Given the description of an element on the screen output the (x, y) to click on. 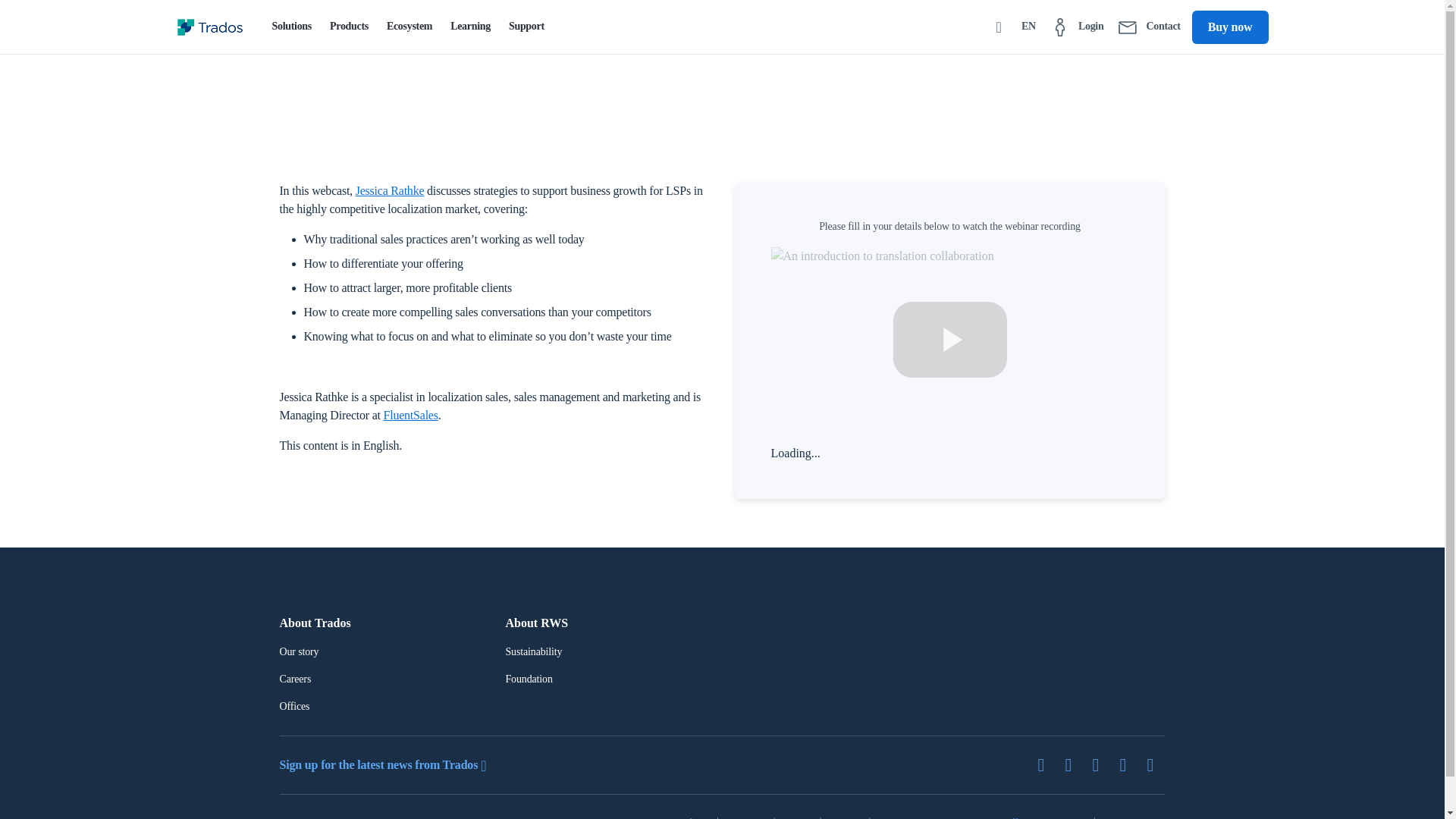
Facebook (1100, 764)
FluentSales (411, 414)
YouTube (1128, 764)
Products (348, 27)
Twitter (1045, 764)
Ecosystem (409, 27)
Jessica Rathke (390, 190)
Solutions (291, 27)
Learning (470, 27)
Instagram (1155, 764)
LinkedIn (1073, 764)
